Given the description of an element on the screen output the (x, y) to click on. 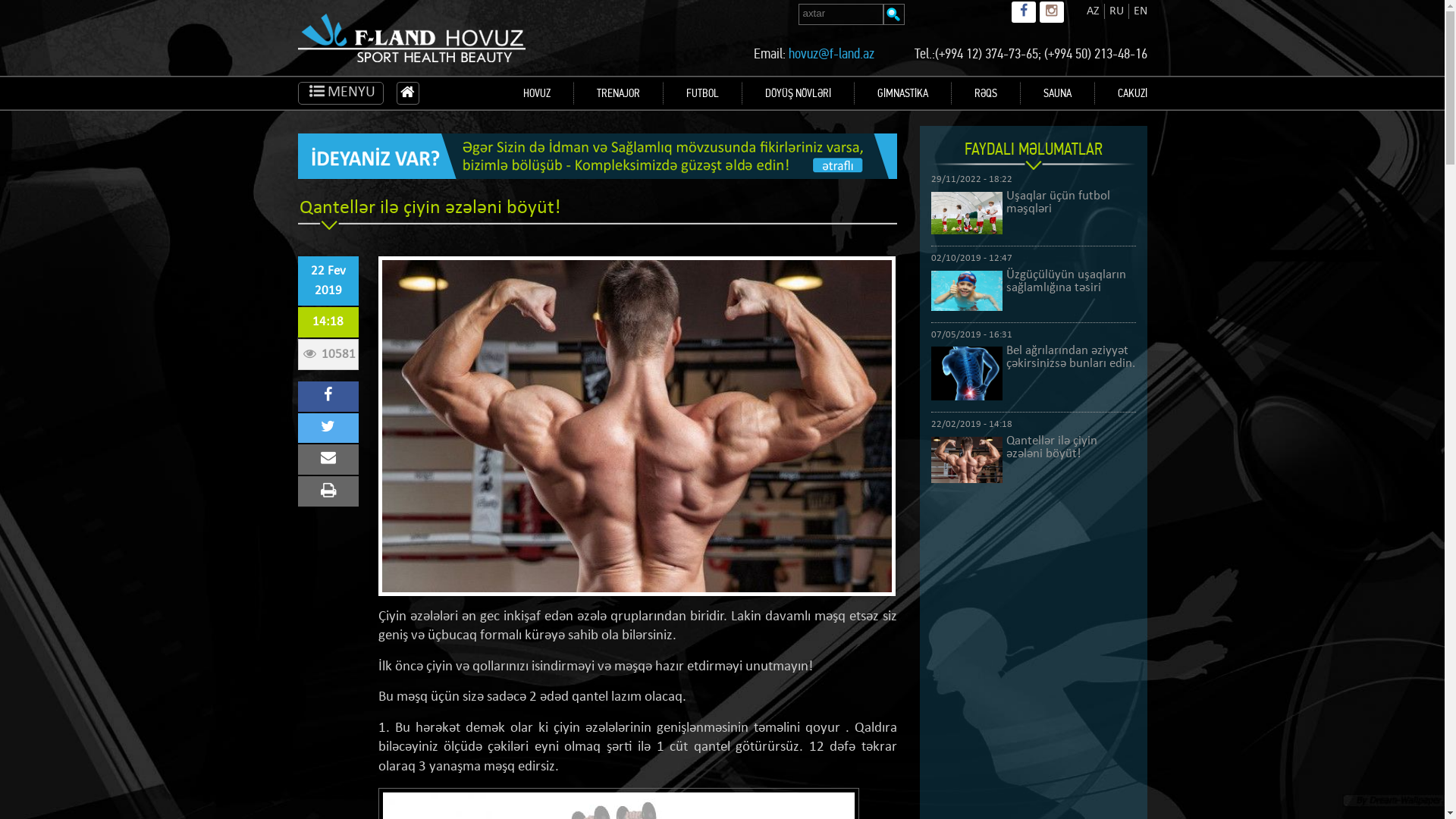
F-LAND Element type: hover (410, 51)
AZ Element type: text (1091, 11)
EN Element type: text (1139, 11)
TRENAJOR Element type: text (617, 92)
hovuz@f-land.az Element type: text (831, 53)
Facebook Element type: hover (1023, 11)
RU Element type: text (1115, 11)
Instagram Element type: hover (1050, 11)
SAUNA Element type: text (1057, 92)
HOVUZ Element type: text (536, 92)
FUTBOL Element type: text (701, 92)
Print Element type: hover (327, 491)
